Given the description of an element on the screen output the (x, y) to click on. 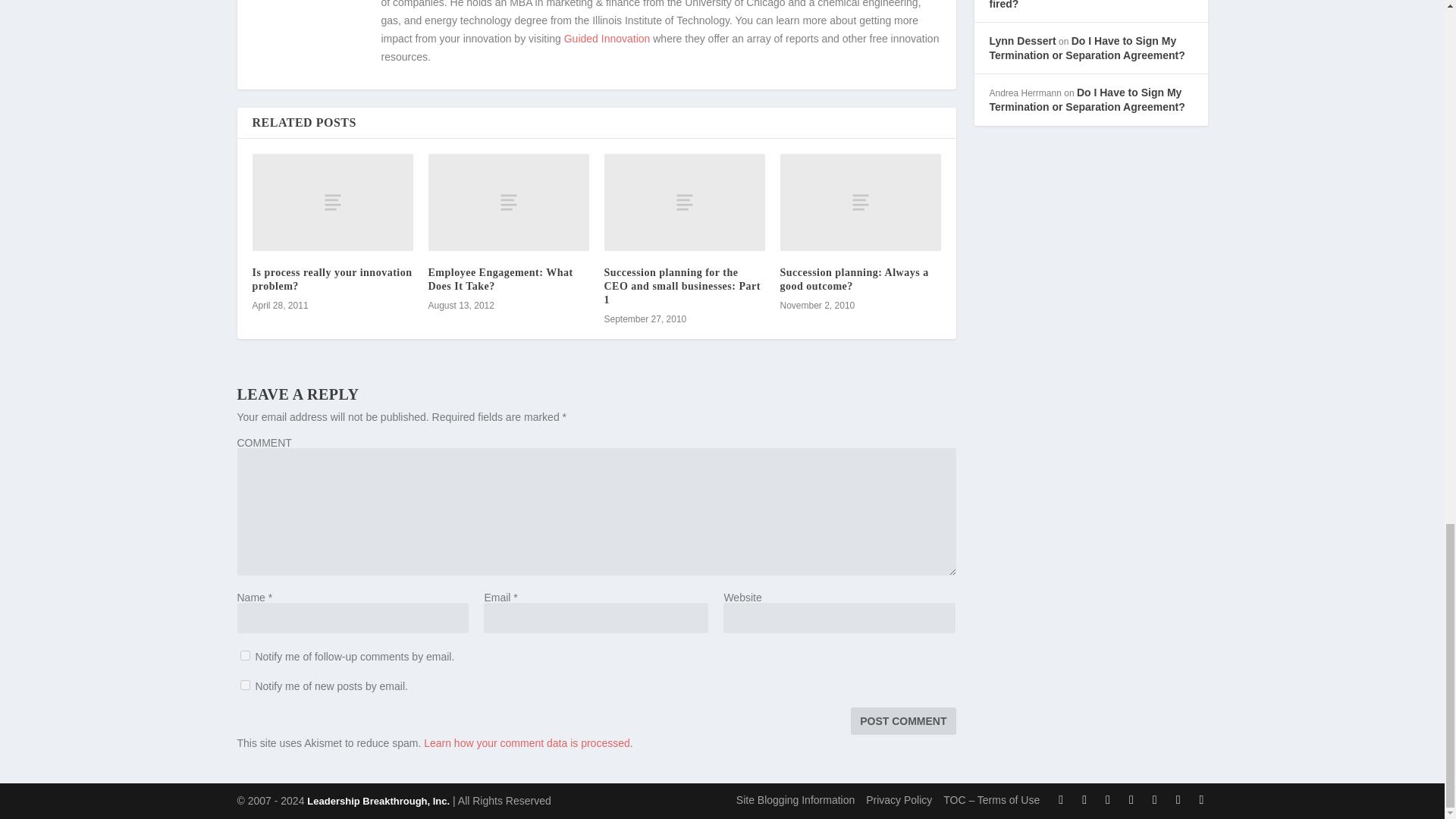
Post Comment (902, 720)
subscribe (244, 685)
subscribe (244, 655)
